Given the description of an element on the screen output the (x, y) to click on. 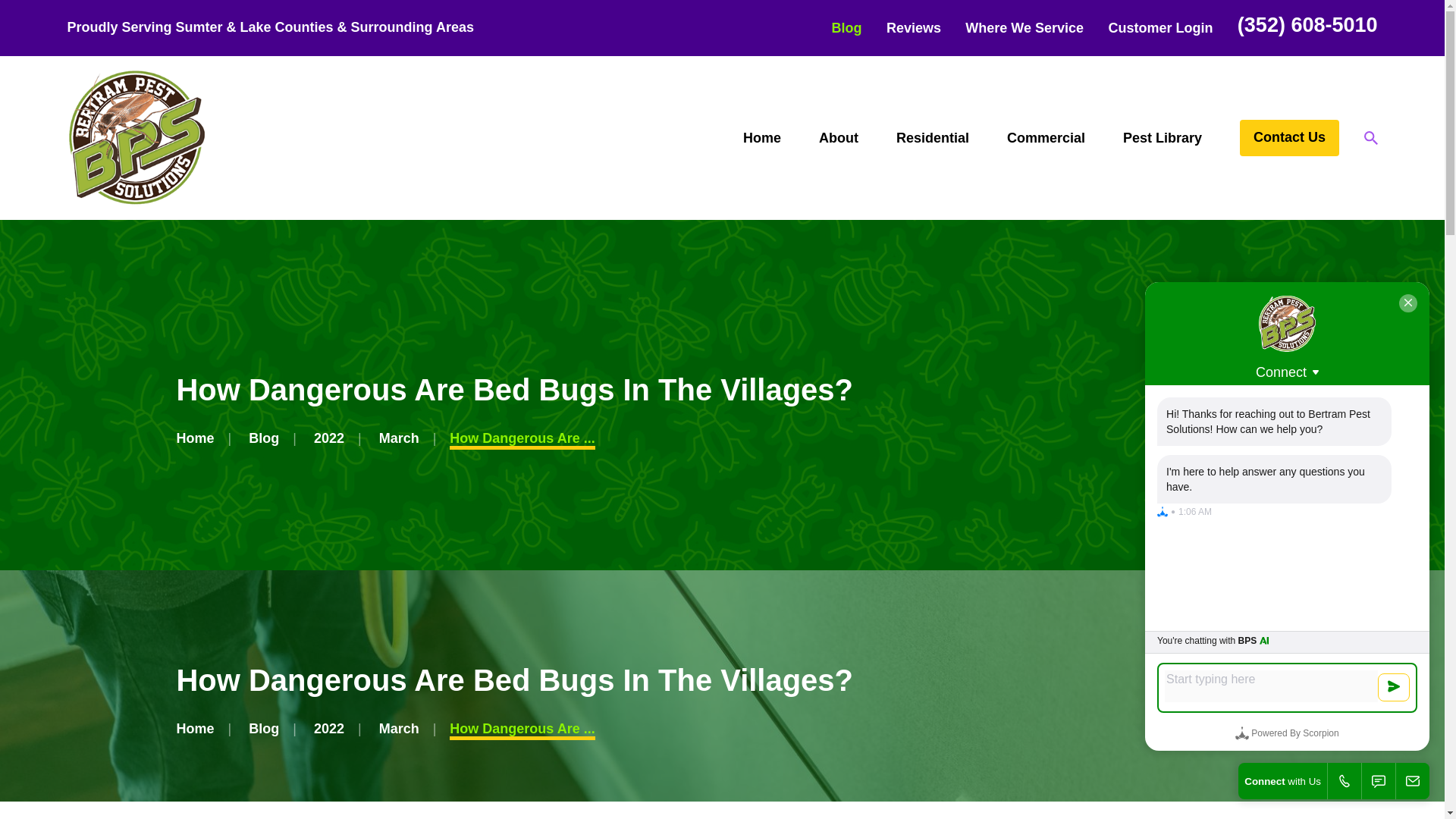
Commercial (1045, 137)
Blog (846, 28)
Home (761, 137)
About (838, 137)
Home (136, 137)
Go Home (195, 728)
Where We Service (1024, 28)
Residential (932, 137)
Go Home (195, 437)
Customer Login (1160, 28)
Reviews (913, 28)
Pest Library (1162, 137)
